Given the description of an element on the screen output the (x, y) to click on. 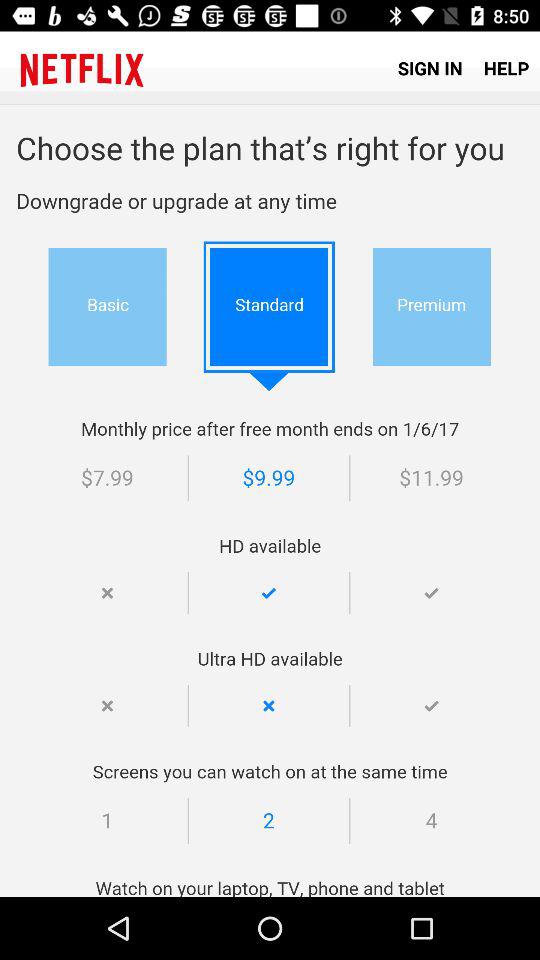
choose option (270, 501)
